Given the description of an element on the screen output the (x, y) to click on. 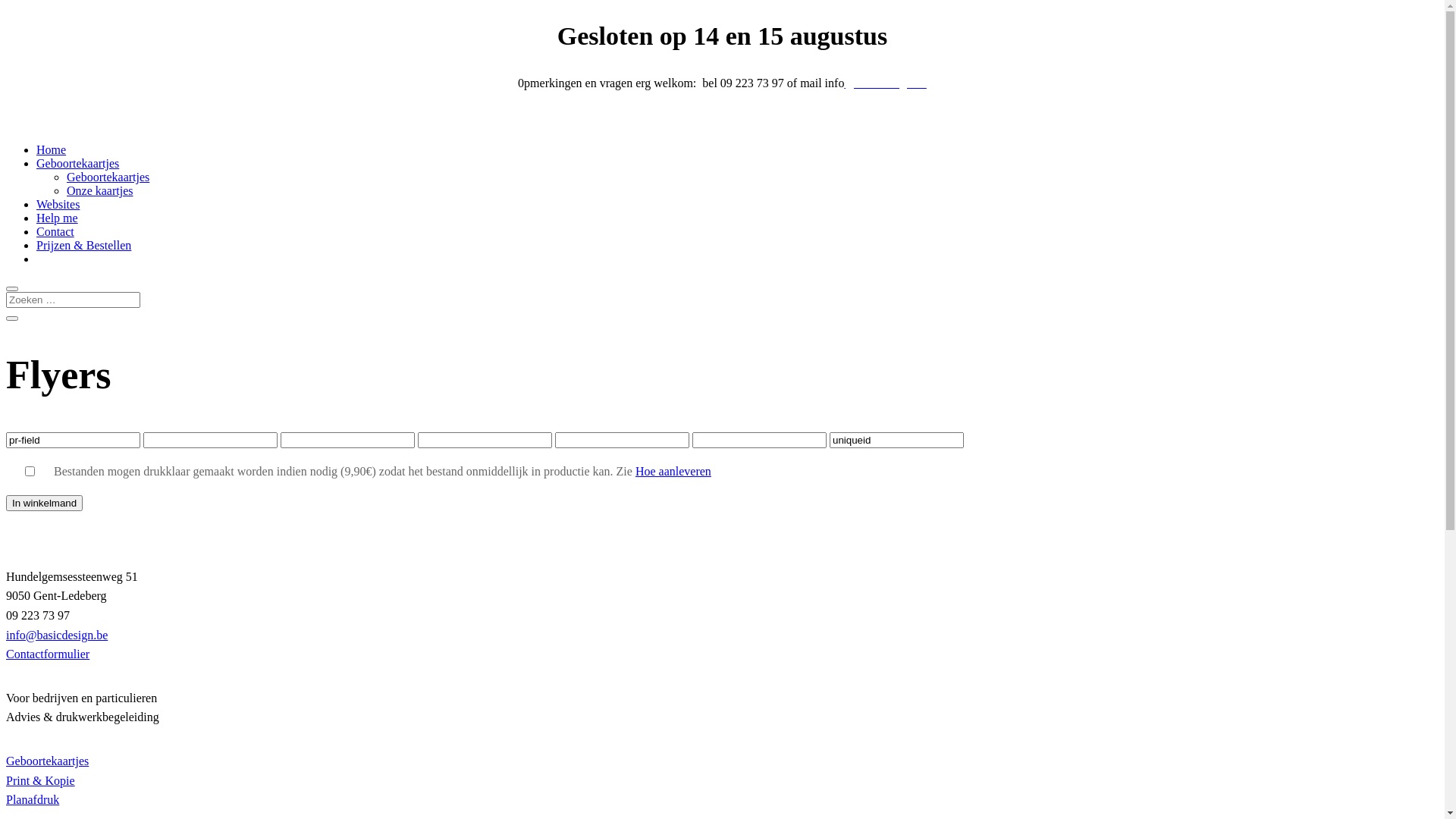
Home Element type: text (50, 149)
info@basicdesign.be Element type: text (56, 634)
Geboortekaartjes Element type: text (47, 760)
@basicdesign.be Element type: text (884, 82)
Planafdruk Element type: text (32, 799)
Onze kaartjes Element type: text (99, 190)
Help me Element type: text (57, 217)
Contact Element type: text (55, 231)
Websites Element type: text (57, 203)
Print & Kopie Element type: text (40, 780)
Prijzen & Bestellen Element type: text (83, 244)
In winkelmand Element type: text (44, 503)
Zoek naar: Element type: hover (73, 299)
Geboortekaartjes Element type: text (107, 176)
Geboortekaartjes Element type: text (77, 162)
Hoe aanleveren Element type: text (673, 470)
Contactformulier Element type: text (47, 653)
